Given the description of an element on the screen output the (x, y) to click on. 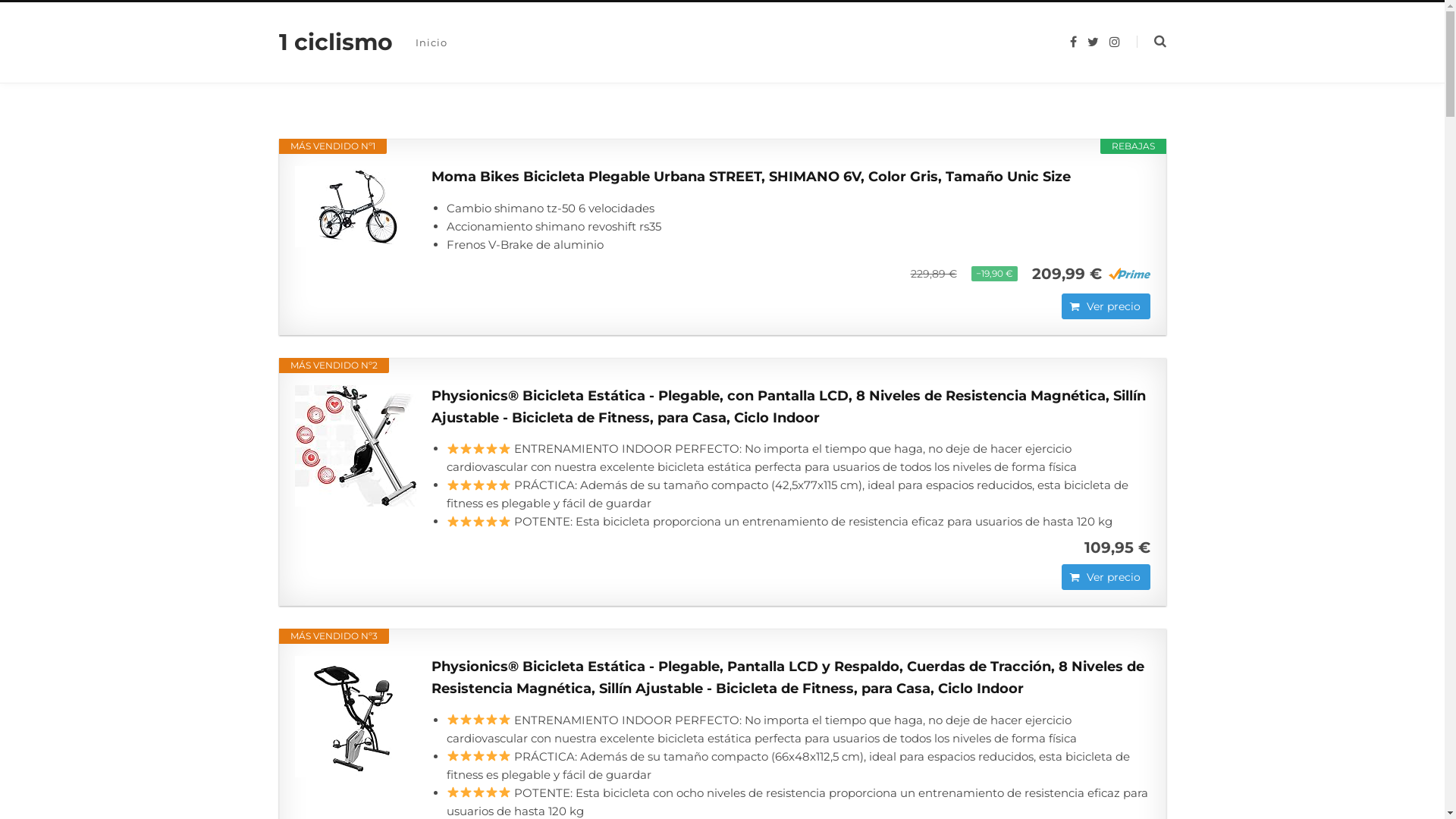
1 ciclismo Element type: text (335, 42)
Twitter Element type: text (1092, 41)
Search Element type: hover (1150, 41)
Instagram Element type: text (1113, 41)
Ver precio Element type: text (1105, 576)
Facebook Element type: text (1072, 41)
Ver precio Element type: text (1105, 306)
